Given the description of an element on the screen output the (x, y) to click on. 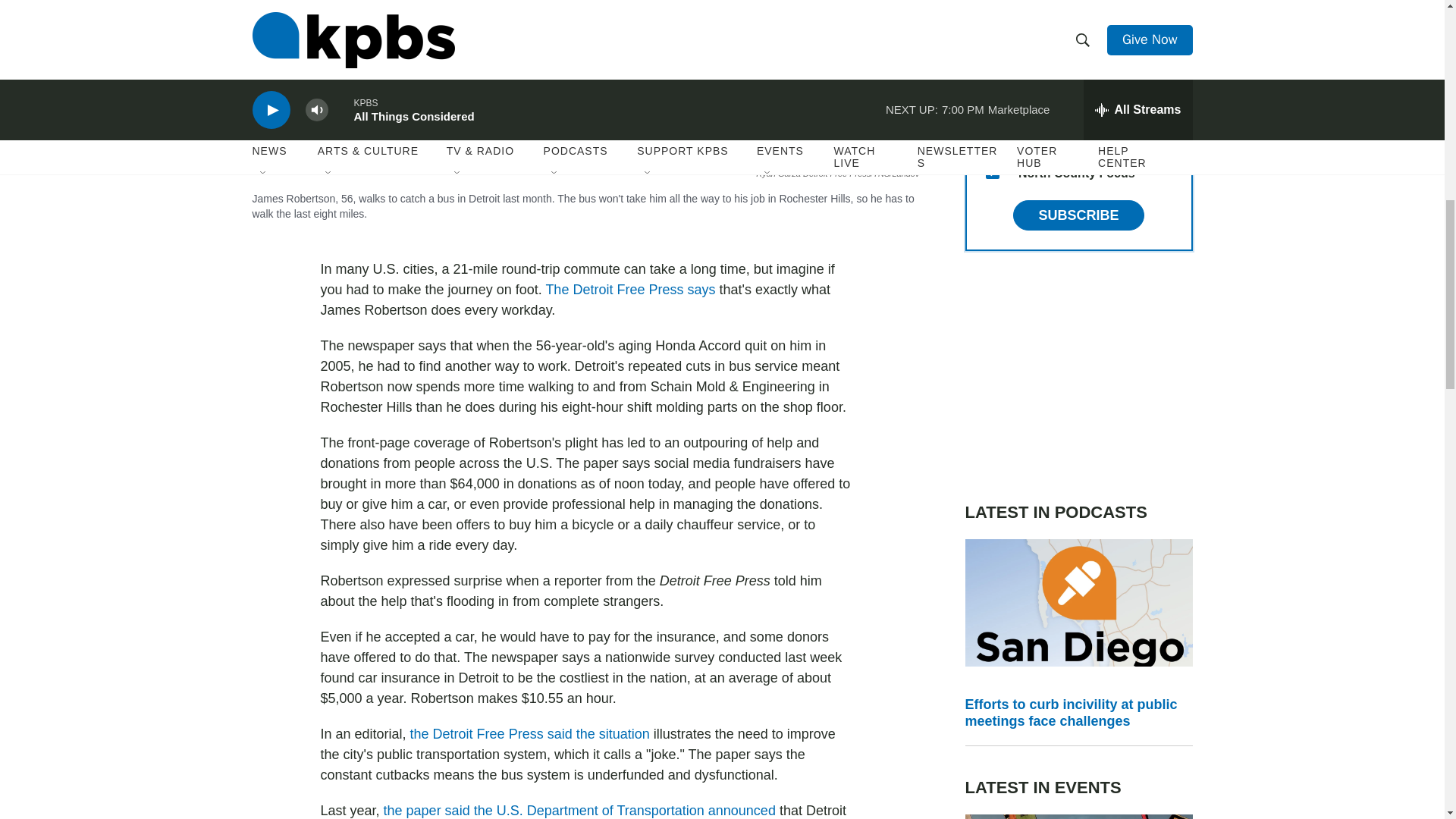
6 (991, 26)
1 (991, 99)
15 (991, 172)
8 (991, 135)
2 (991, 62)
